Given the description of an element on the screen output the (x, y) to click on. 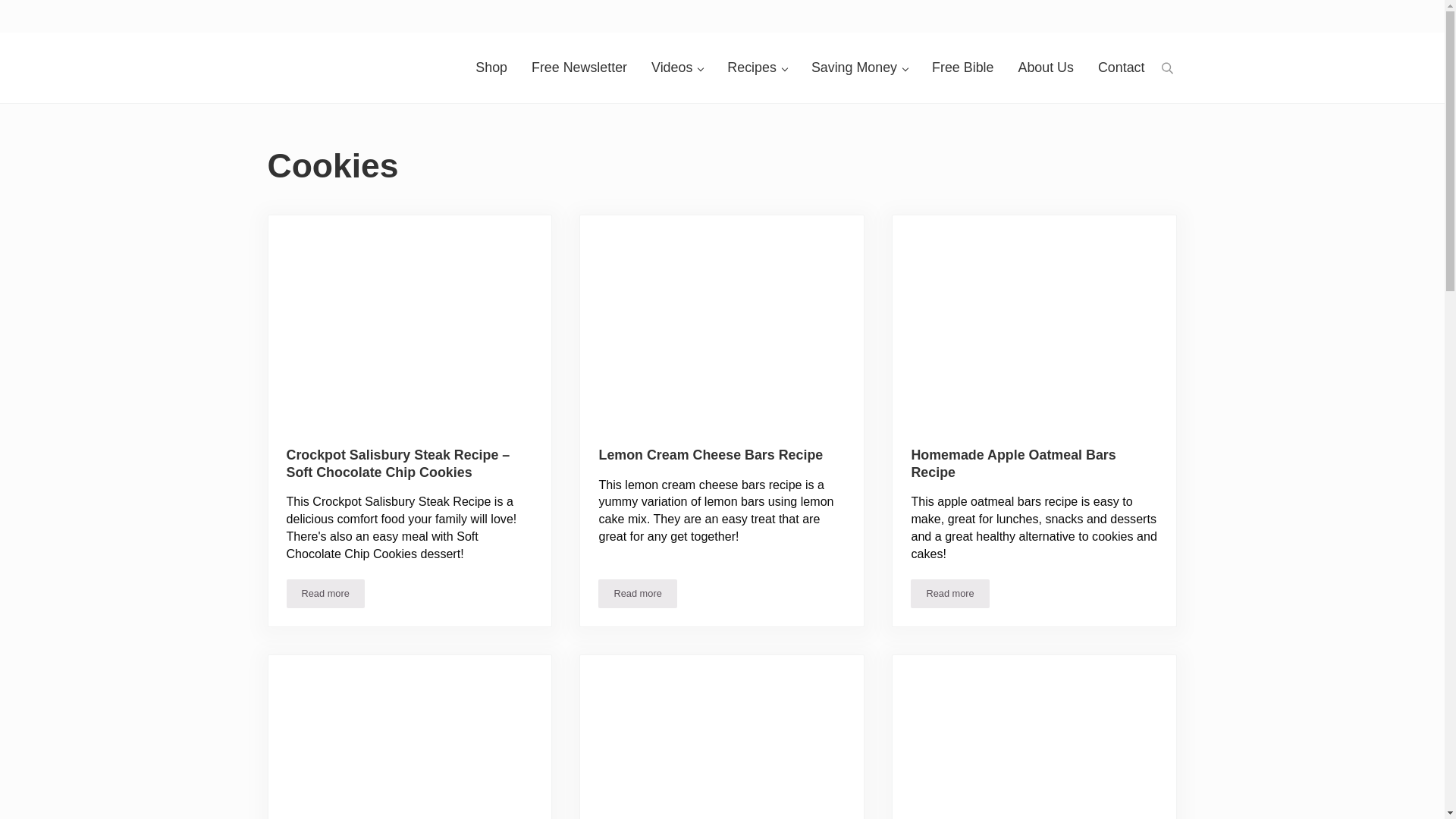
Pinterest (750, 11)
Facebook (693, 11)
Facebook (693, 11)
YouTube (779, 11)
Recipes (756, 67)
Email (664, 11)
Free Newsletter (579, 67)
Instagram (722, 11)
Videos (676, 67)
